Given the description of an element on the screen output the (x, y) to click on. 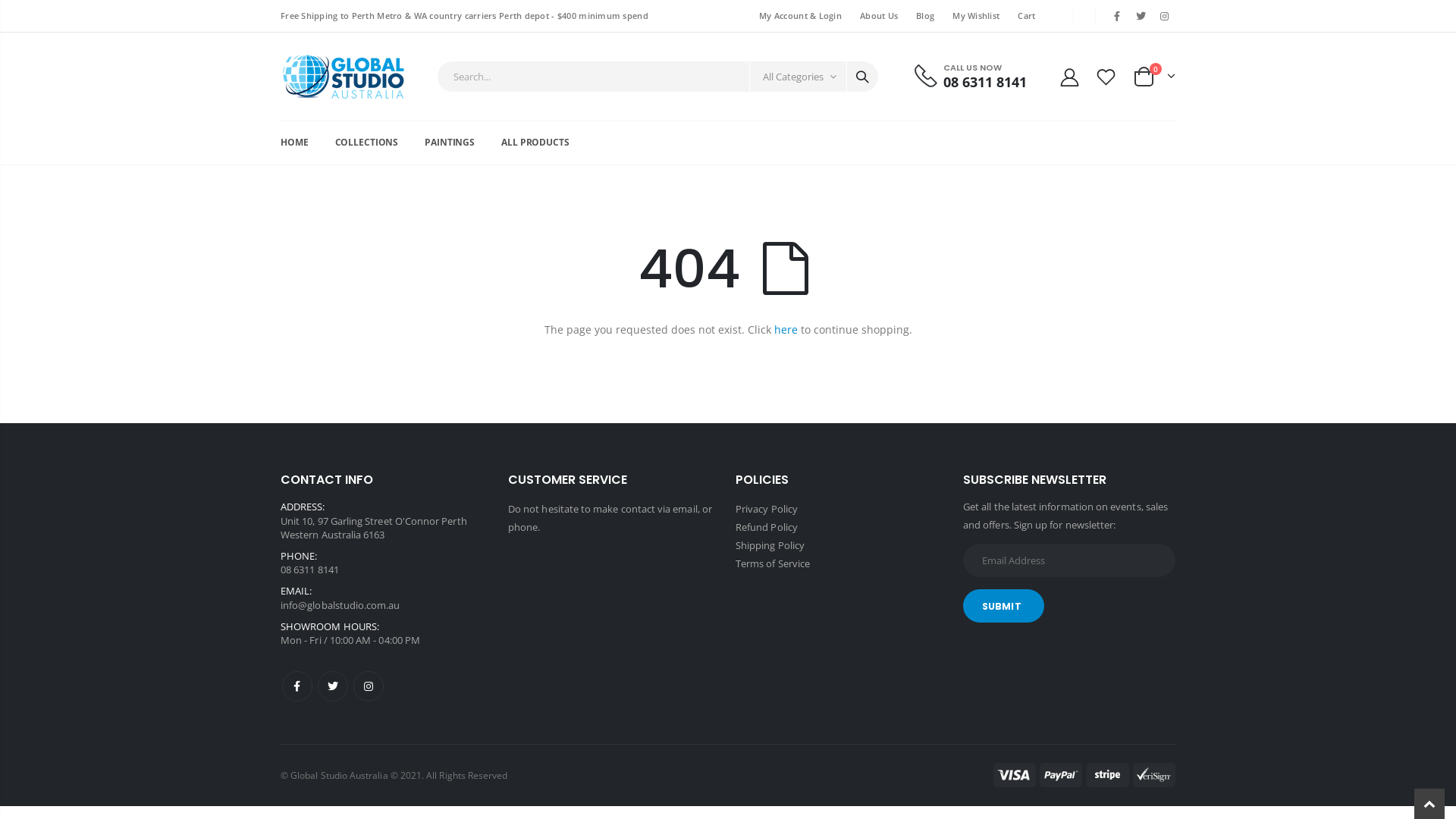
Search Element type: text (862, 76)
About Us Element type: text (878, 15)
ALL PRODUCTS Element type: text (547, 142)
HOME Element type: text (306, 142)
0 Element type: text (1153, 76)
My Account & Login Element type: text (800, 15)
info@globalstudio.com.au Element type: text (340, 604)
here Element type: text (785, 328)
Twitter Element type: text (332, 686)
SUBMIT Element type: text (1003, 605)
PAINTINGS Element type: text (461, 142)
Facebook Element type: text (297, 686)
My Wishlist Element type: text (975, 15)
All Categories Element type: text (797, 76)
Refund Policy Element type: text (766, 526)
Shipping Policy Element type: text (769, 545)
Terms of Service Element type: text (772, 563)
Blog Element type: text (925, 15)
Cart Element type: text (1026, 15)
COLLECTIONS Element type: text (379, 142)
Instagram Element type: text (368, 686)
Privacy Policy Element type: text (766, 508)
